Given the description of an element on the screen output the (x, y) to click on. 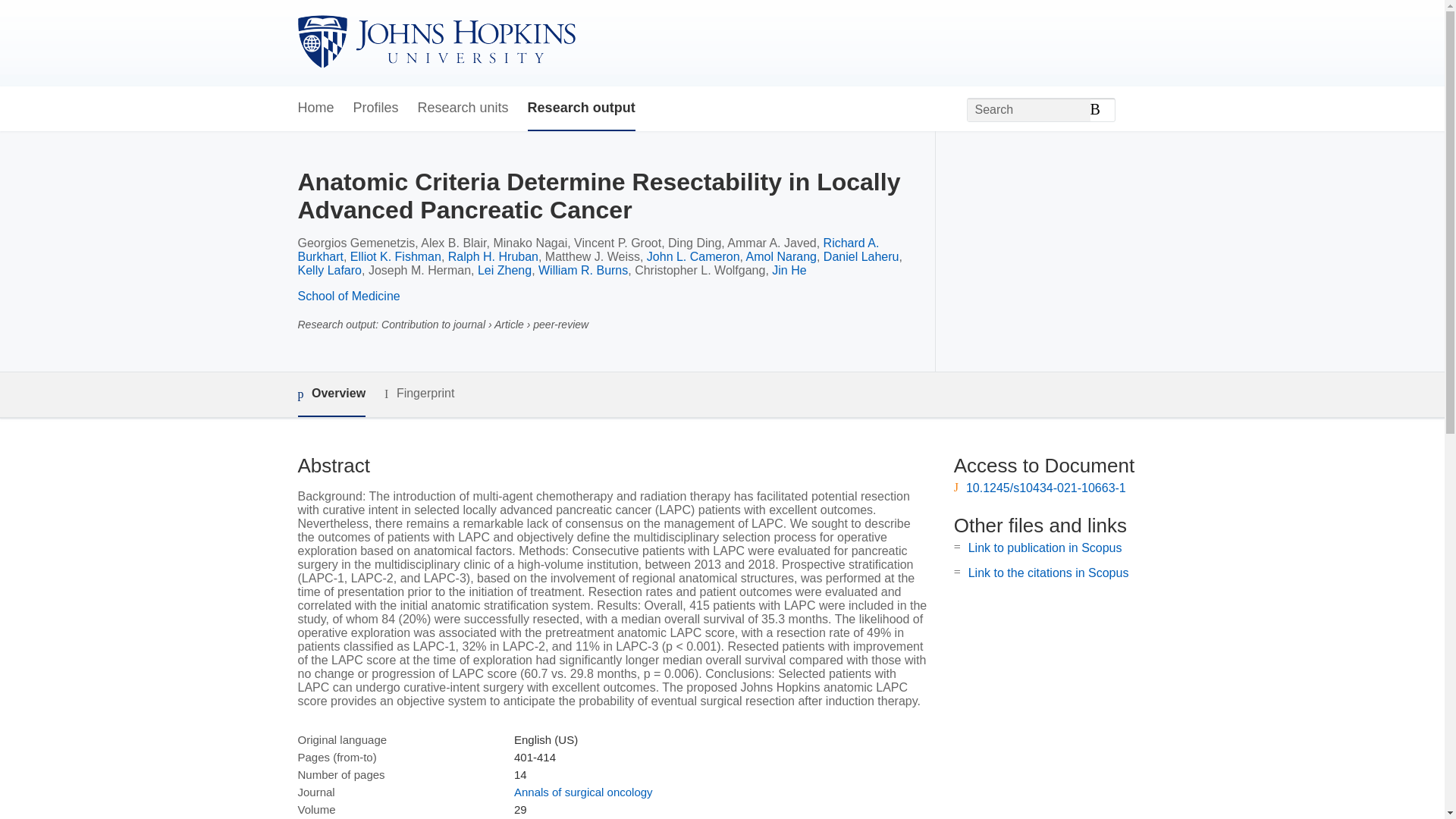
Annals of surgical oncology (582, 791)
Overview (331, 394)
Lei Zheng (504, 269)
Johns Hopkins University Home (436, 43)
Profiles (375, 108)
Link to the citations in Scopus (1048, 572)
Research units (462, 108)
Fingerprint (419, 393)
Ralph H. Hruban (493, 256)
